Given the description of an element on the screen output the (x, y) to click on. 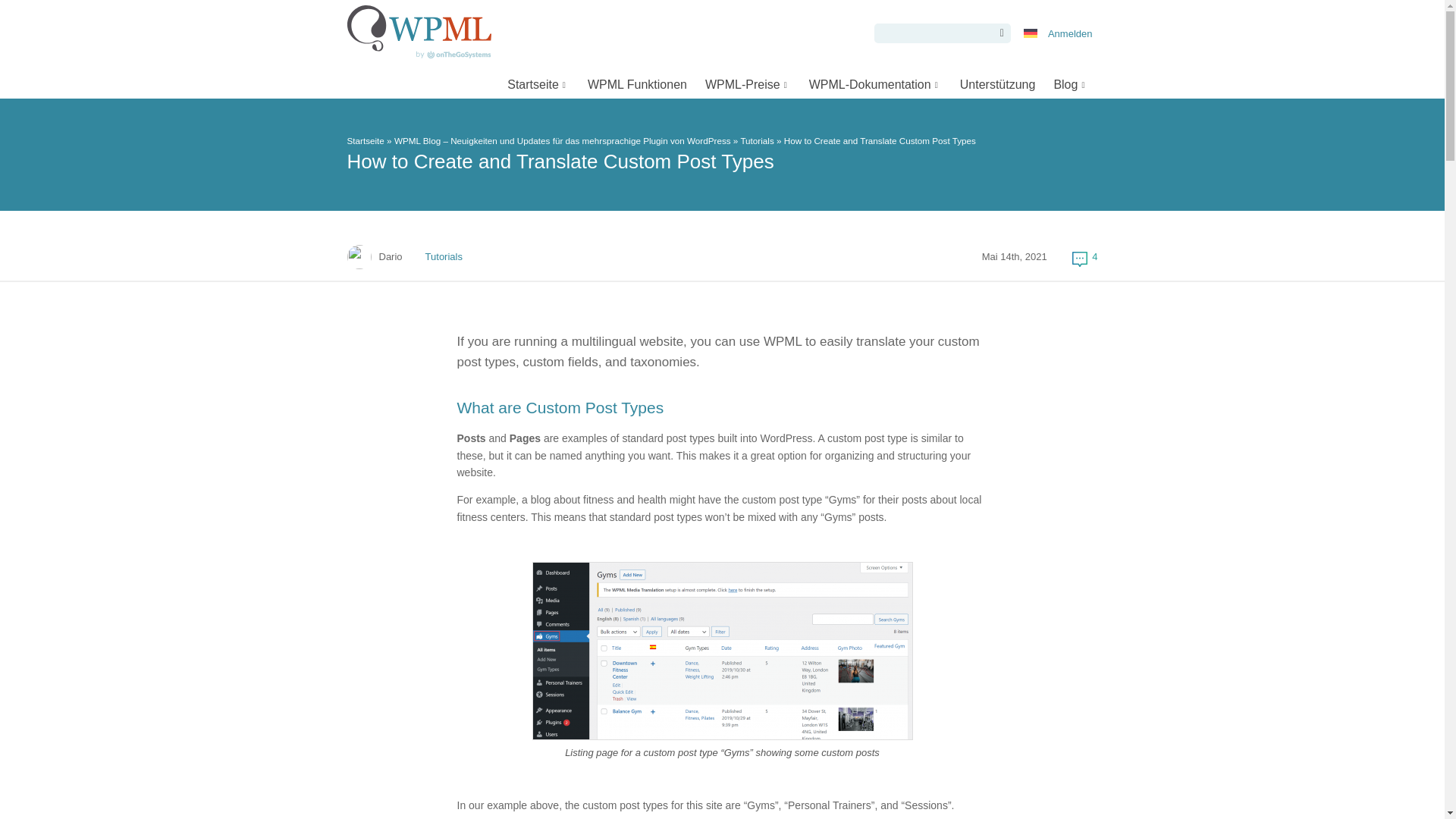
WPML-Preise (747, 84)
WPML Funktionen (636, 84)
Anmelden (1069, 32)
Suchen (998, 33)
Suchen (998, 33)
Startseite (537, 84)
WPML-Dokumentation (874, 84)
